Given the description of an element on the screen output the (x, y) to click on. 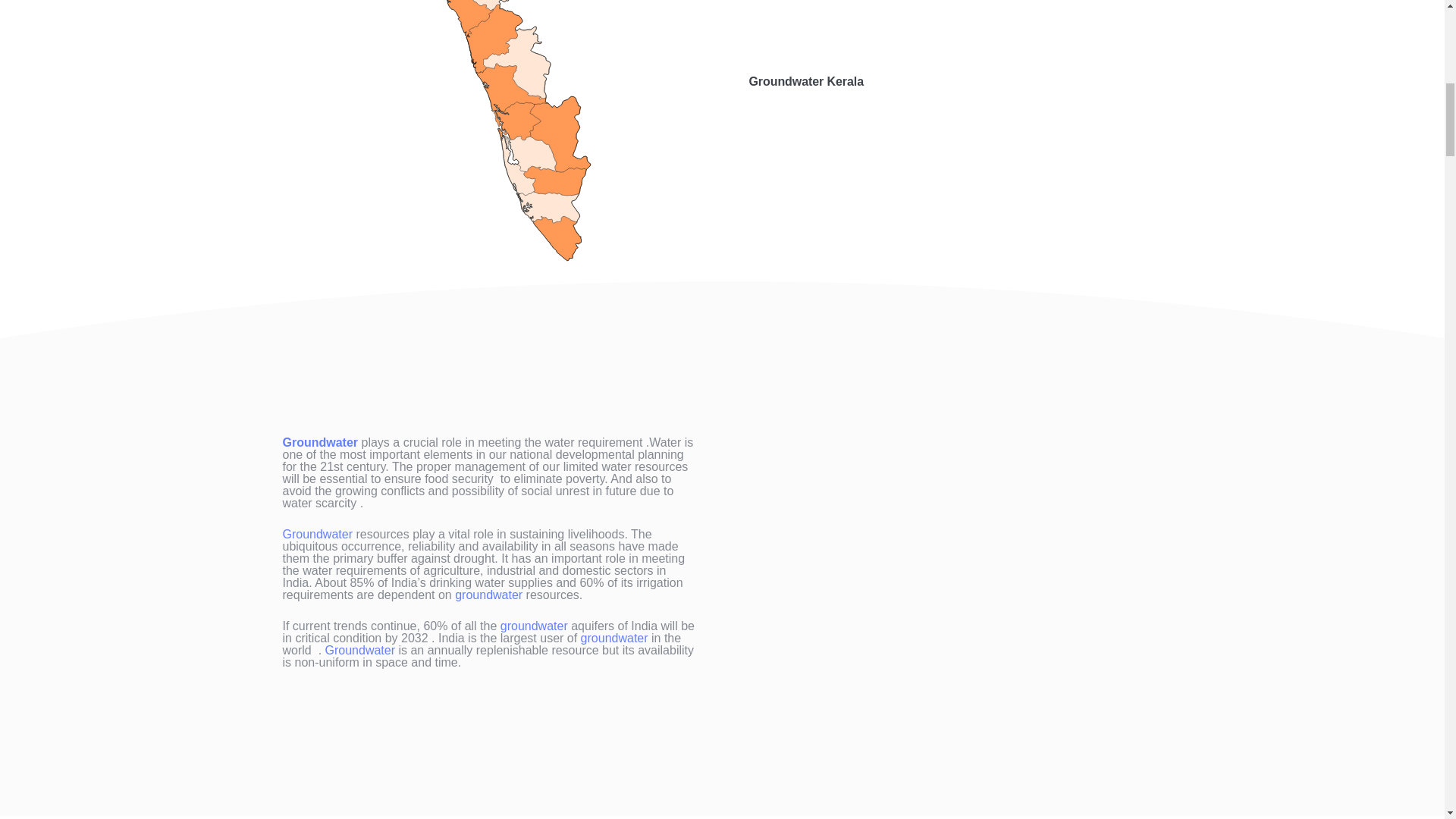
Groundwater (317, 533)
groundwater (488, 594)
 Groundwater (357, 649)
groundwater (533, 625)
groundwater (613, 637)
Groundwater (320, 441)
